Given the description of an element on the screen output the (x, y) to click on. 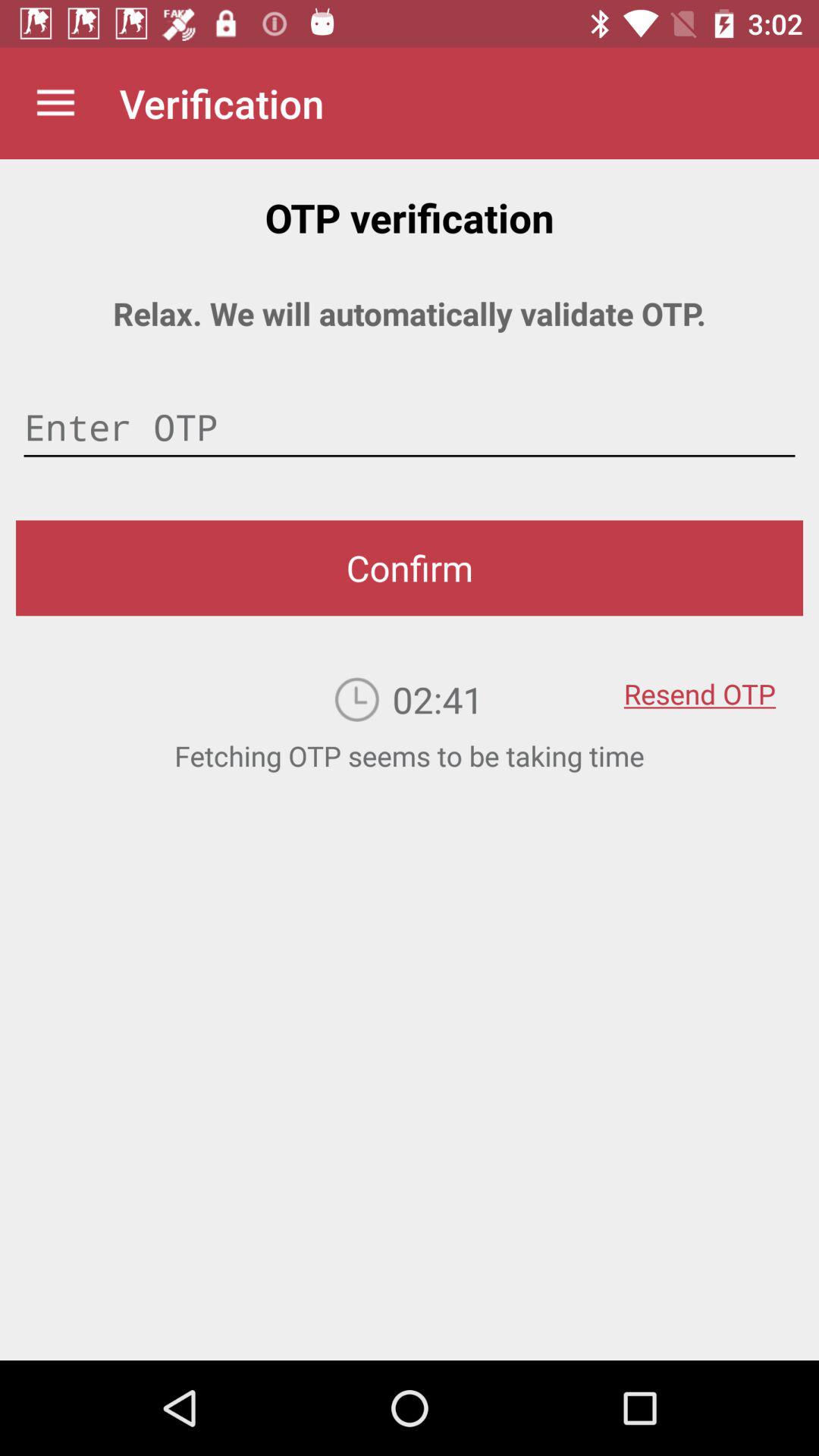
open the icon next to 02:40 (699, 683)
